Given the description of an element on the screen output the (x, y) to click on. 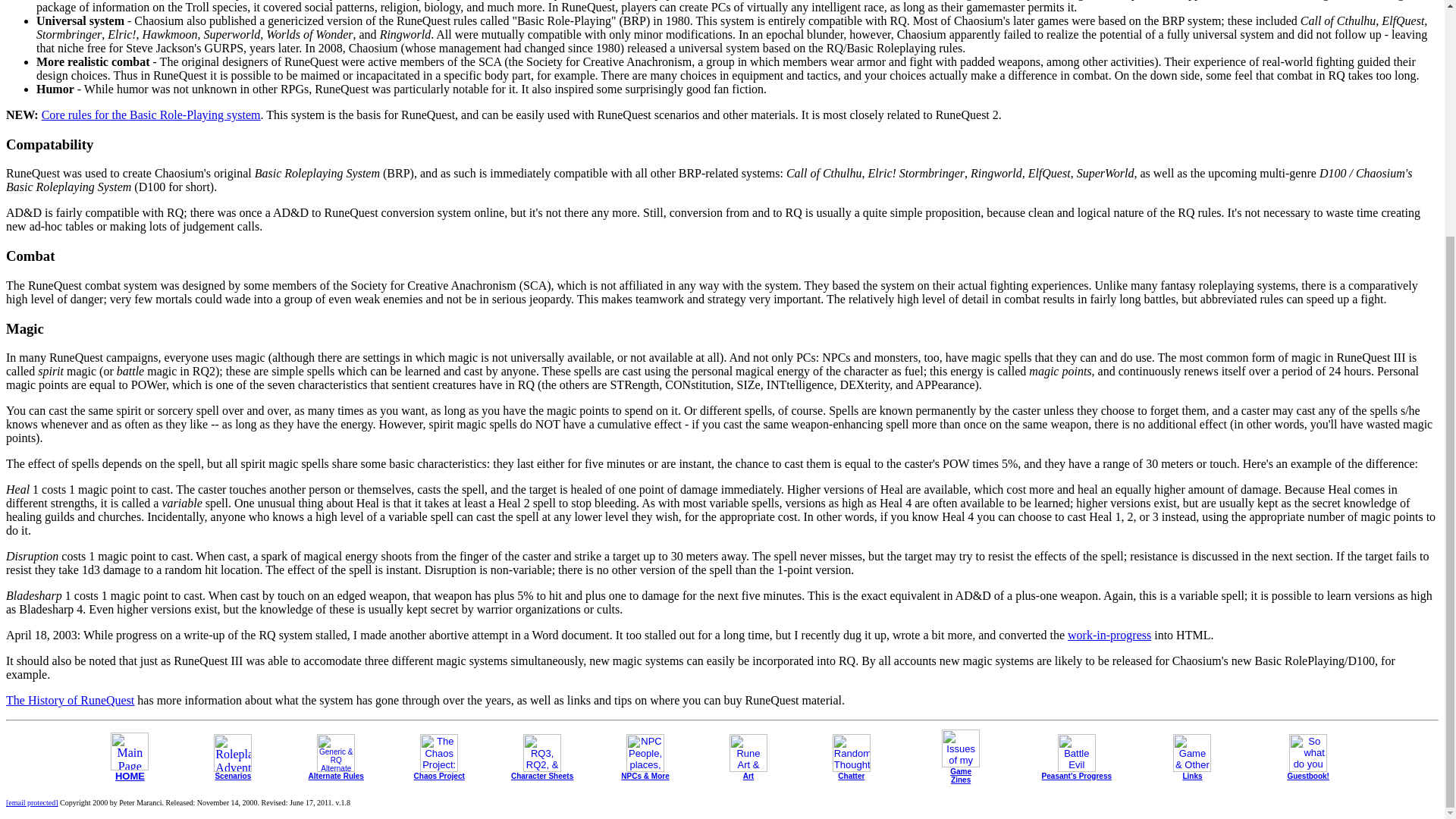
Zines (960, 778)
Game (960, 766)
Alternate Rules (336, 771)
Core rules for the Basic Role-Playing system (151, 114)
Character Sheets (542, 771)
HOME (129, 771)
Peasant's Progress (1077, 771)
Art (748, 771)
Chatter (851, 771)
Guestbook! (1308, 771)
